Given the description of an element on the screen output the (x, y) to click on. 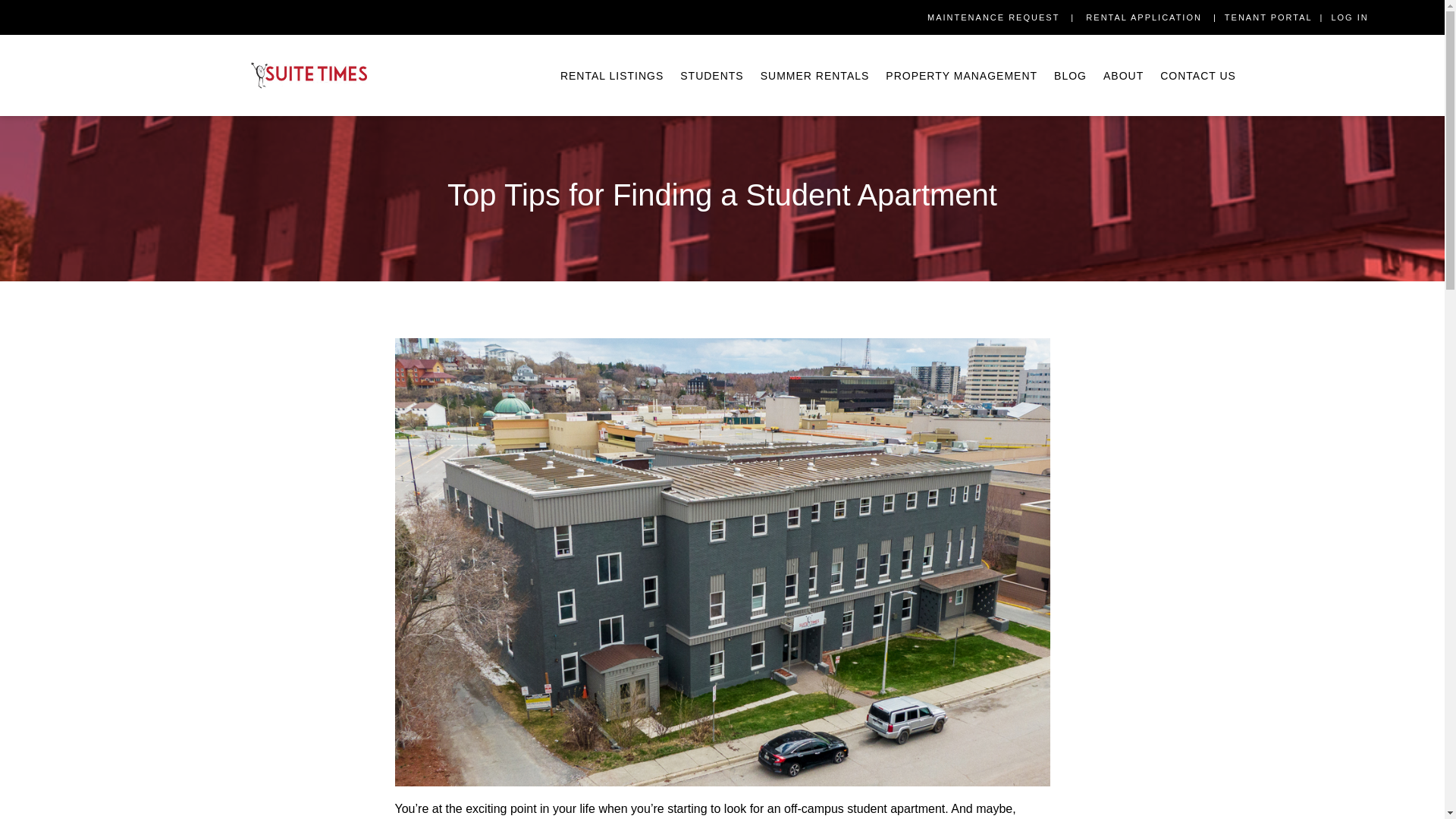
STUDENTS (710, 75)
CONTACT US (1198, 75)
RENTAL APPLICATION  (1145, 17)
PROPERTY MANAGEMENT (960, 75)
LOG IN  (1350, 17)
SUMMER RENTALS (814, 75)
TENANT PORTAL  (1270, 17)
RENTAL LISTINGS (611, 75)
